Given the description of an element on the screen output the (x, y) to click on. 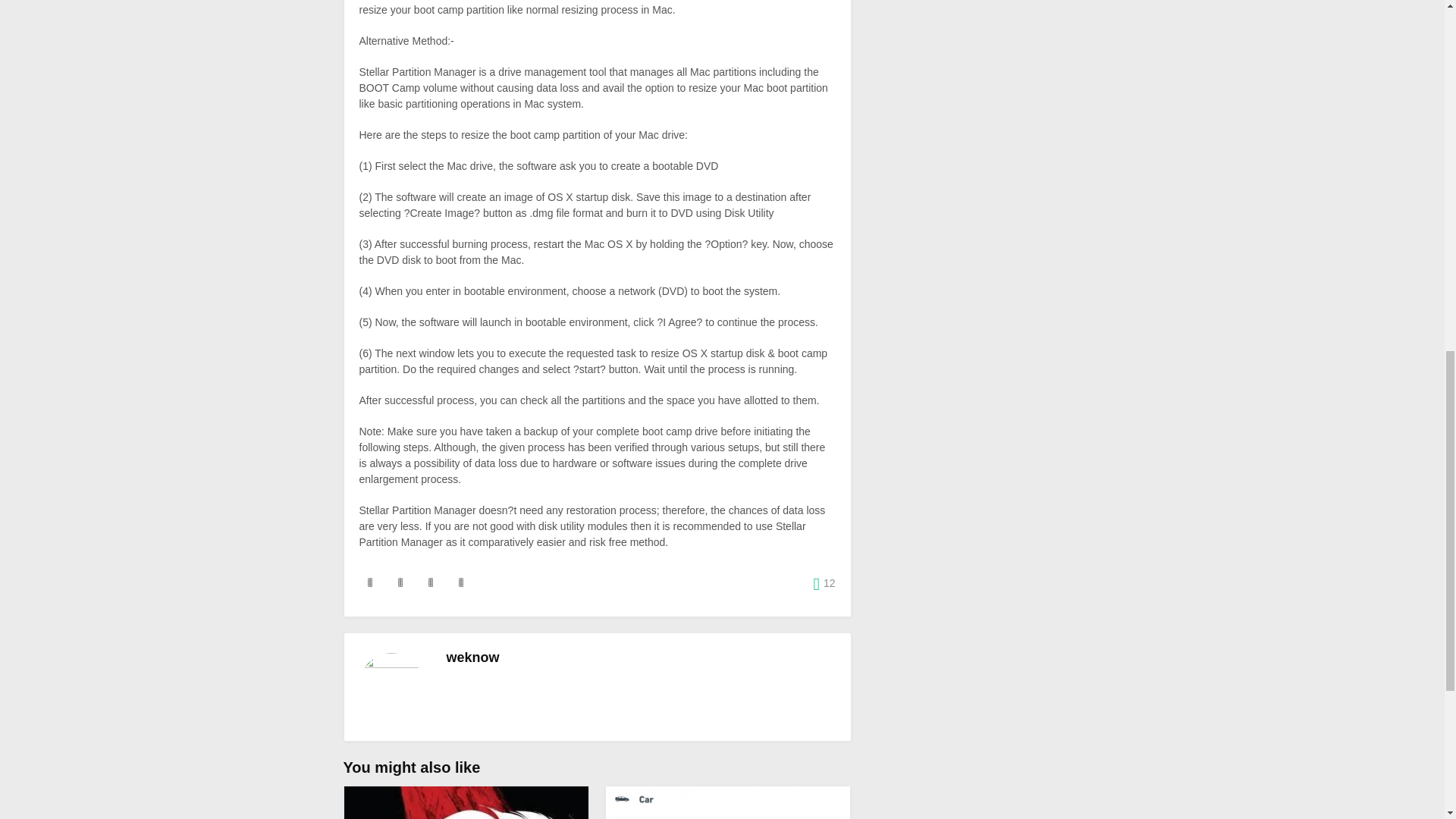
How to Deliver Postmates on Bike (727, 802)
Three Modern Translations of Marcus Aurelius (465, 802)
weknow (472, 657)
